Given the description of an element on the screen output the (x, y) to click on. 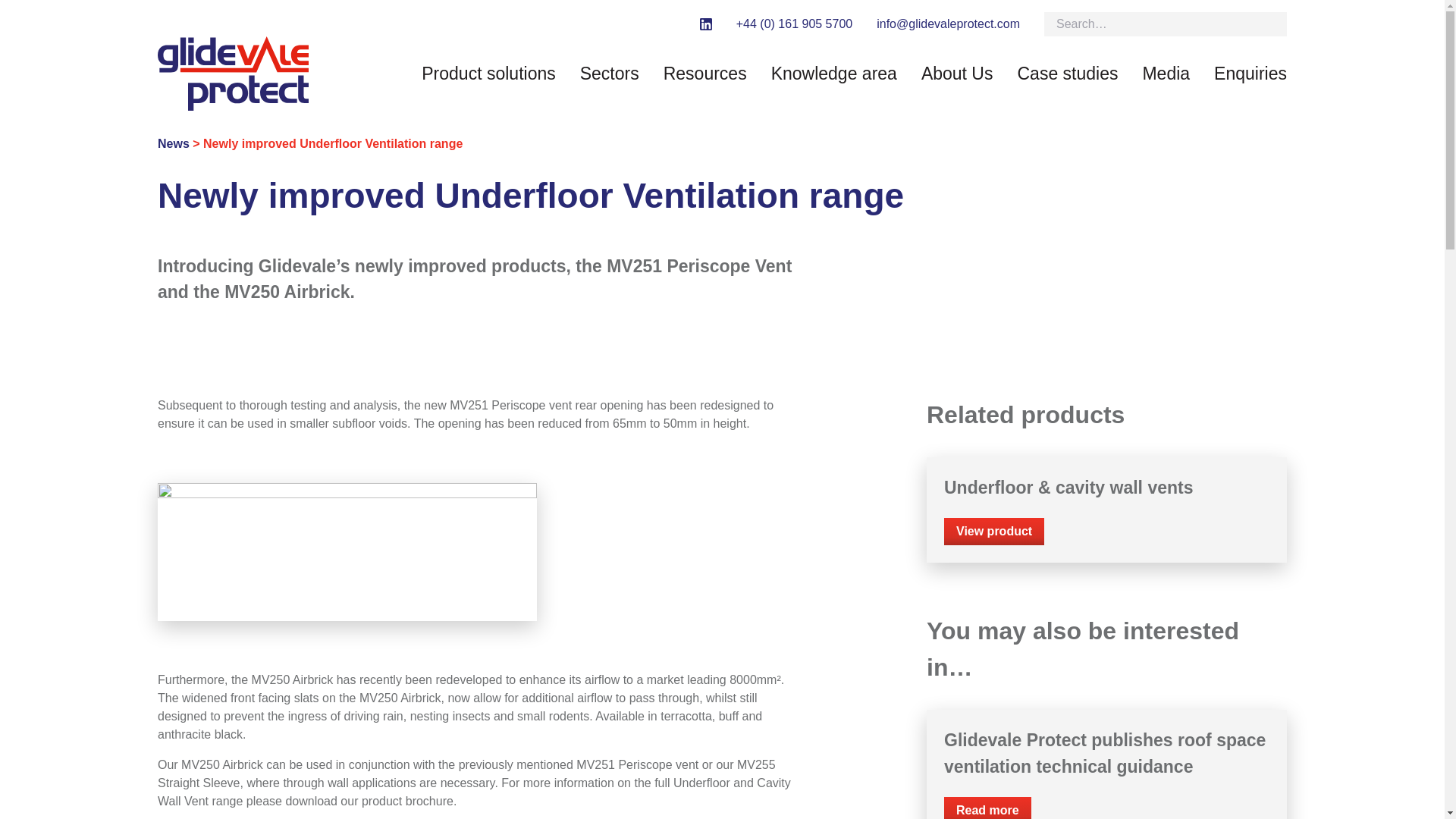
Email us (948, 24)
Call us (793, 24)
Product solutions (488, 73)
Follow us on LinkedIn (705, 24)
